Given the description of an element on the screen output the (x, y) to click on. 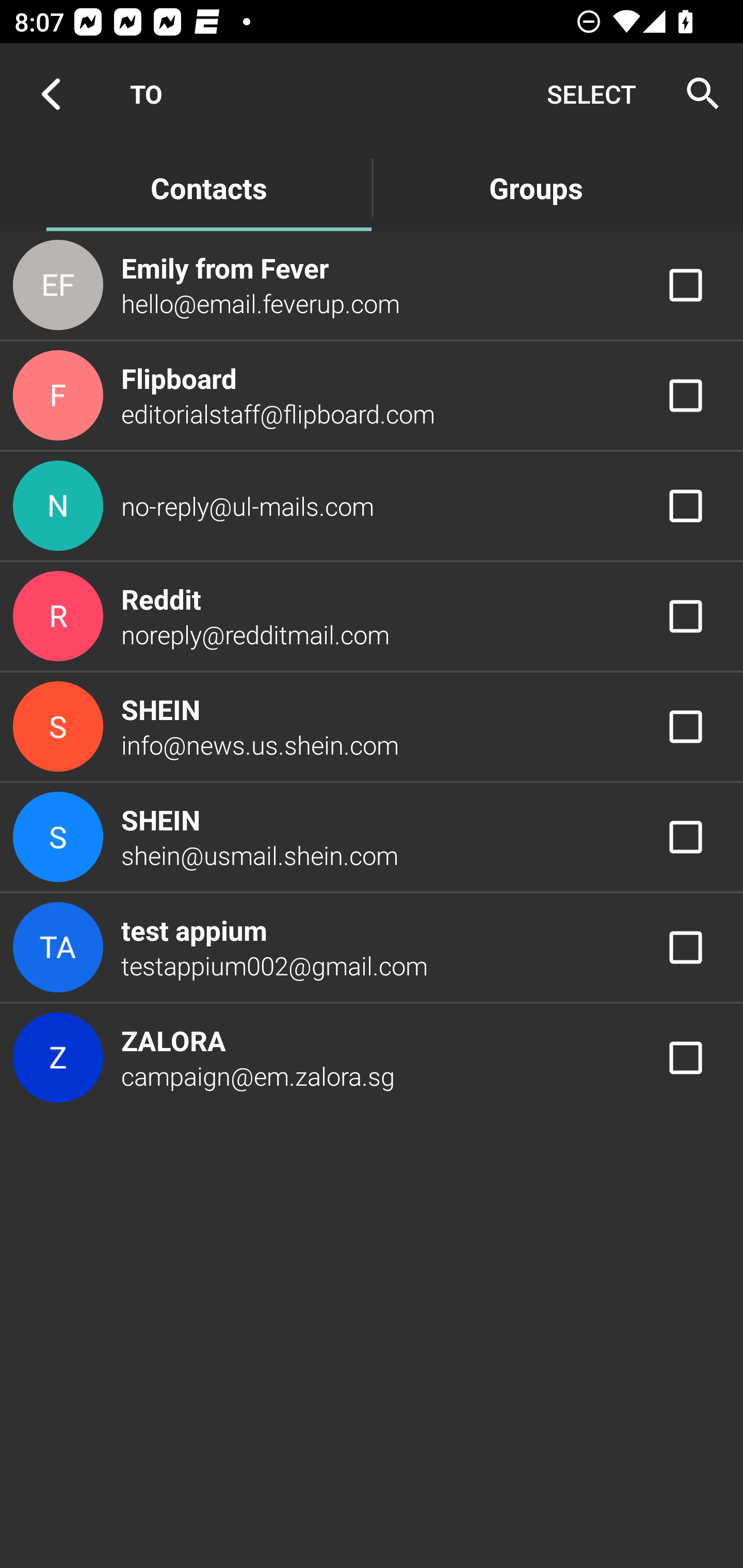
Navigate up (50, 93)
SELECT (590, 93)
Search (696, 93)
Contacts (208, 187)
Groups (535, 187)
Emily from Fever hello@email.feverup.com (371, 284)
Flipboard editorialstaff@flipboard.com (371, 395)
no-reply@ul-mails.com (371, 505)
Reddit noreply@redditmail.com (371, 616)
SHEIN info@news.us.shein.com (371, 726)
SHEIN shein@usmail.shein.com (371, 836)
test appium testappium002@gmail.com (371, 947)
ZALORA campaign@em.zalora.sg (371, 1057)
